Given the description of an element on the screen output the (x, y) to click on. 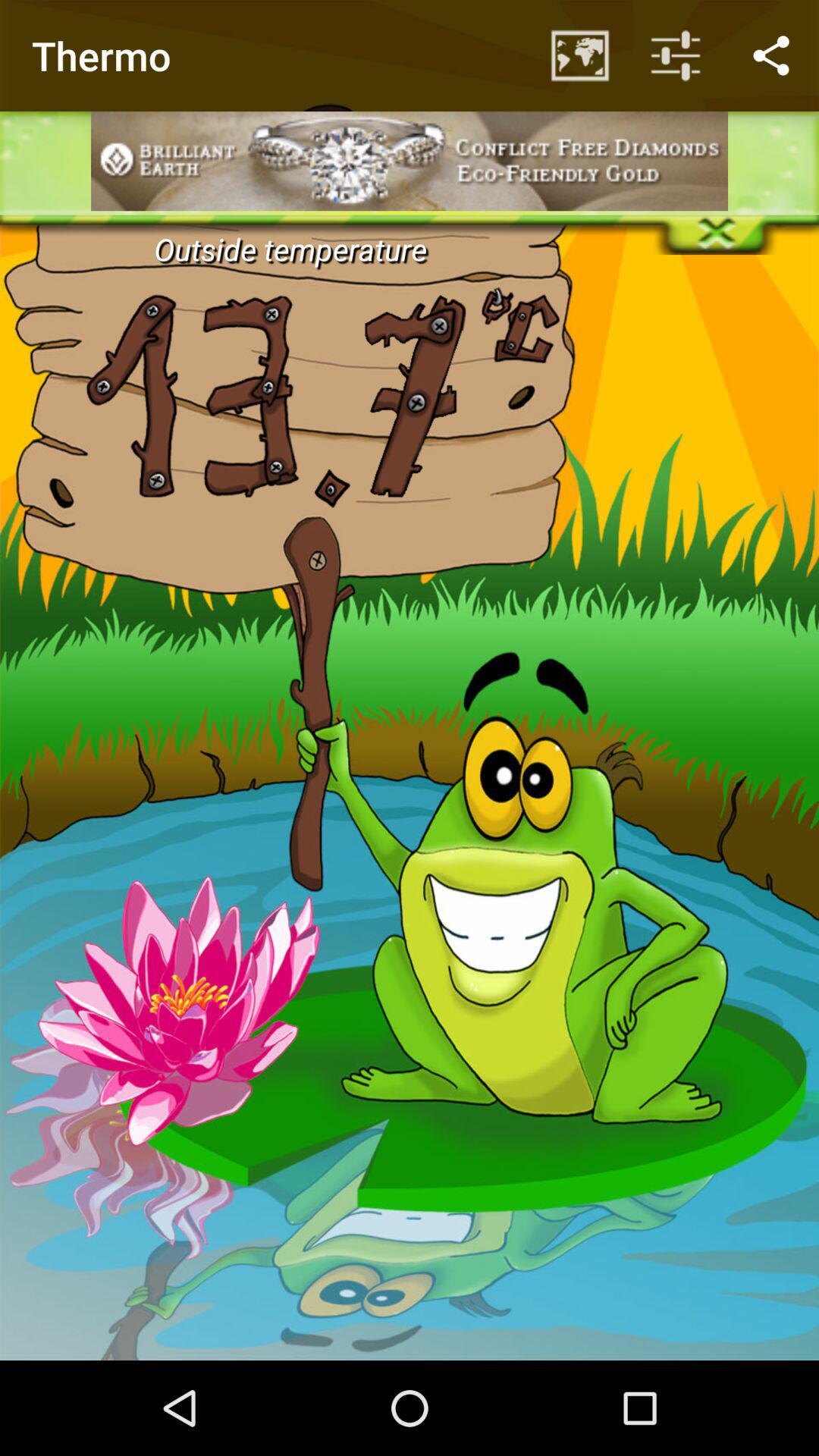
go to settings (409, 49)
